Given the description of an element on the screen output the (x, y) to click on. 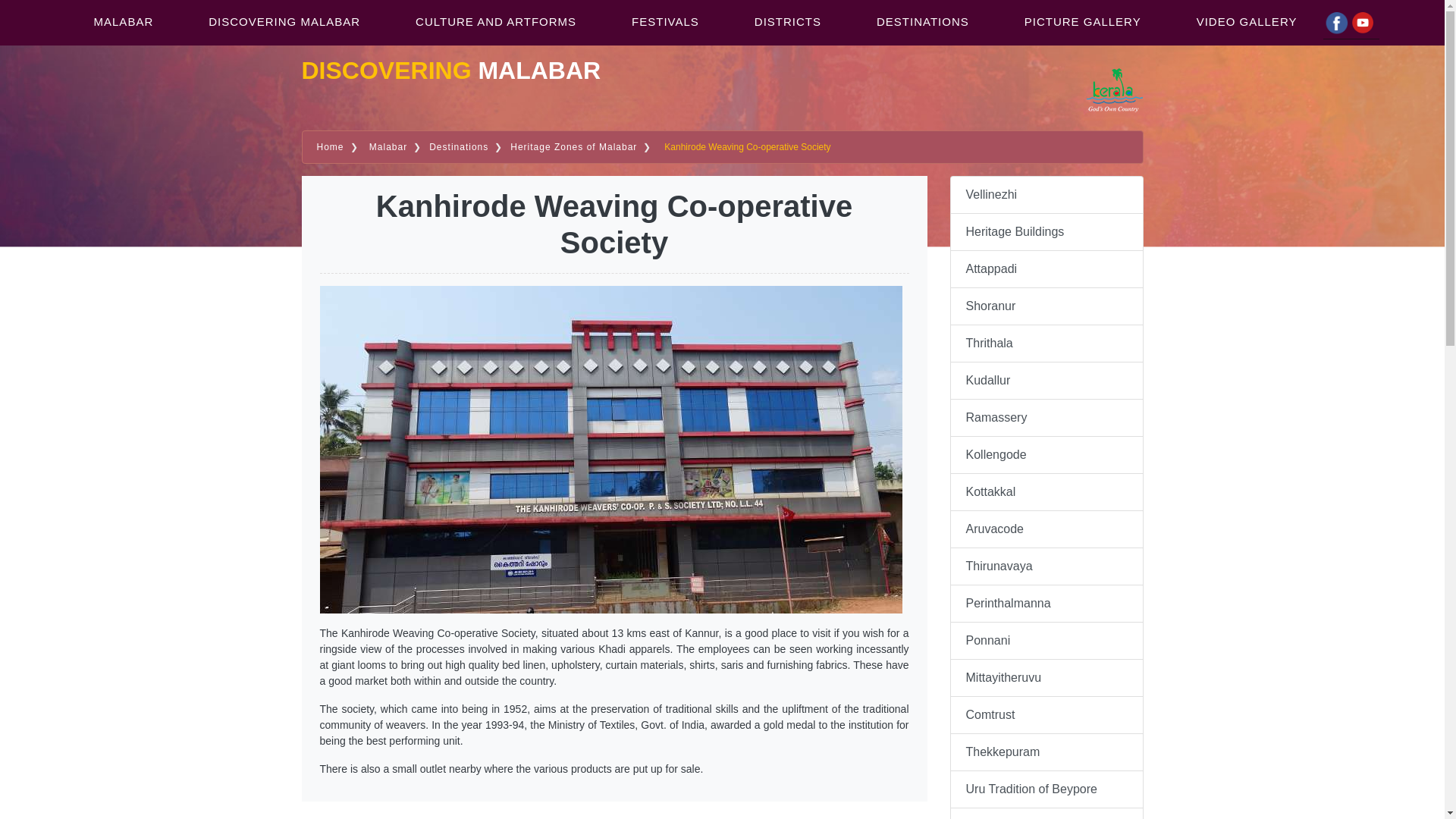
Destinations (456, 146)
Malabar (385, 146)
Official logo of Kerala tourism (1114, 89)
DISCOVERING MALABAR (283, 21)
FESTIVALS (663, 21)
PICTURE GALLERY (1081, 21)
Kallayi (1045, 813)
Perinthalmanna (1045, 603)
Ramassery (1045, 417)
Kudallur (1045, 380)
